Given the description of an element on the screen output the (x, y) to click on. 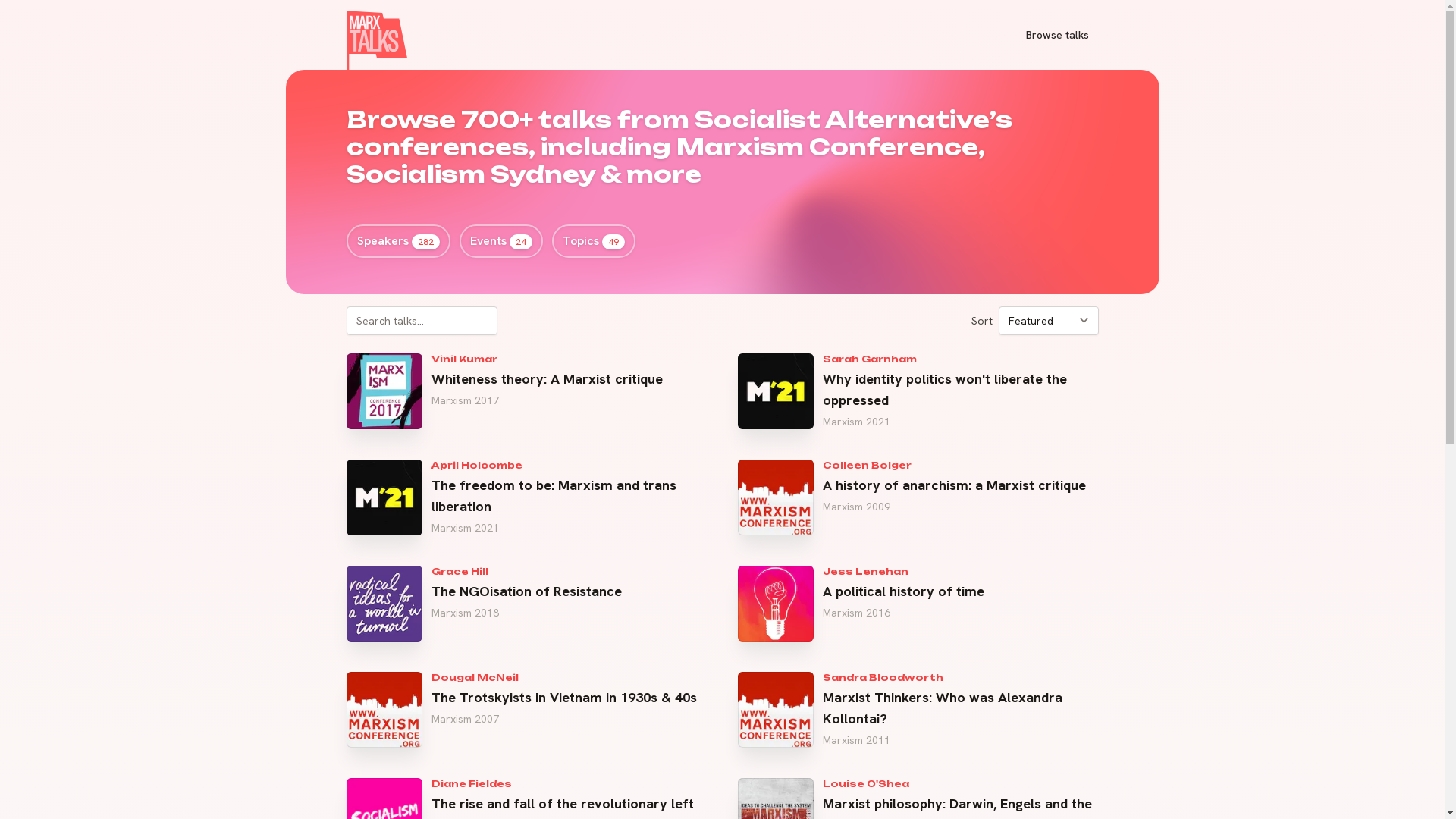
Jess Lenehan
A political history of time
Marxism 2016 Element type: text (917, 603)
Marxism Conference Element type: text (827, 146)
Events
24 Element type: text (500, 240)
Speakers
282 Element type: text (397, 240)
Grace Hill
The NGOisation of Resistance
Marxism 2018 Element type: text (525, 603)
Socialism Sydney Element type: text (469, 174)
Browse talks Element type: text (1057, 34)
Topics
49 Element type: text (593, 240)
